Given the description of an element on the screen output the (x, y) to click on. 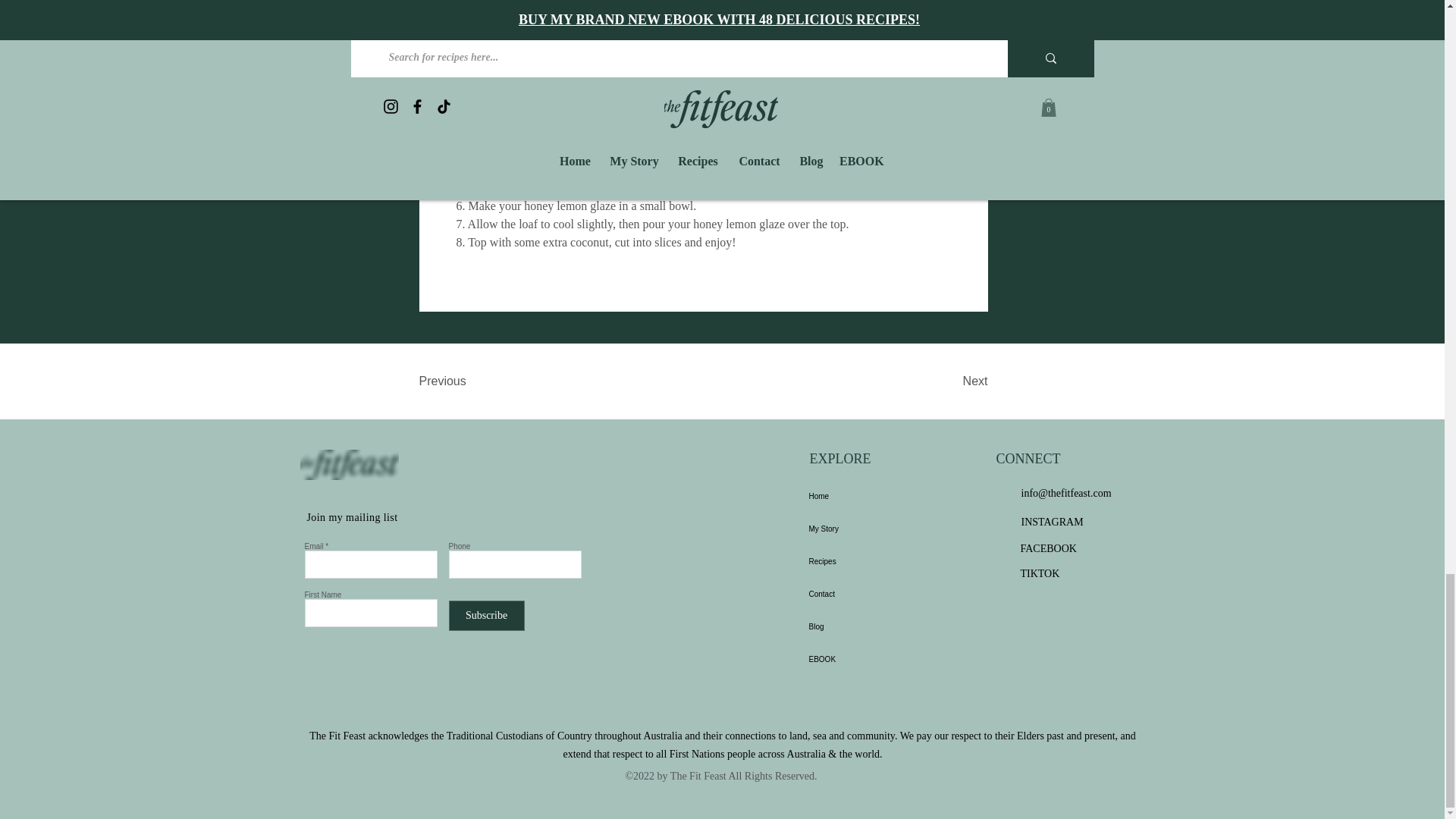
Previous (467, 381)
Contact (842, 594)
Subscribe (486, 615)
Home (842, 495)
My Story (842, 528)
EBOOK (842, 658)
Next (949, 381)
Recipes (842, 561)
Blog (842, 626)
